Given the description of an element on the screen output the (x, y) to click on. 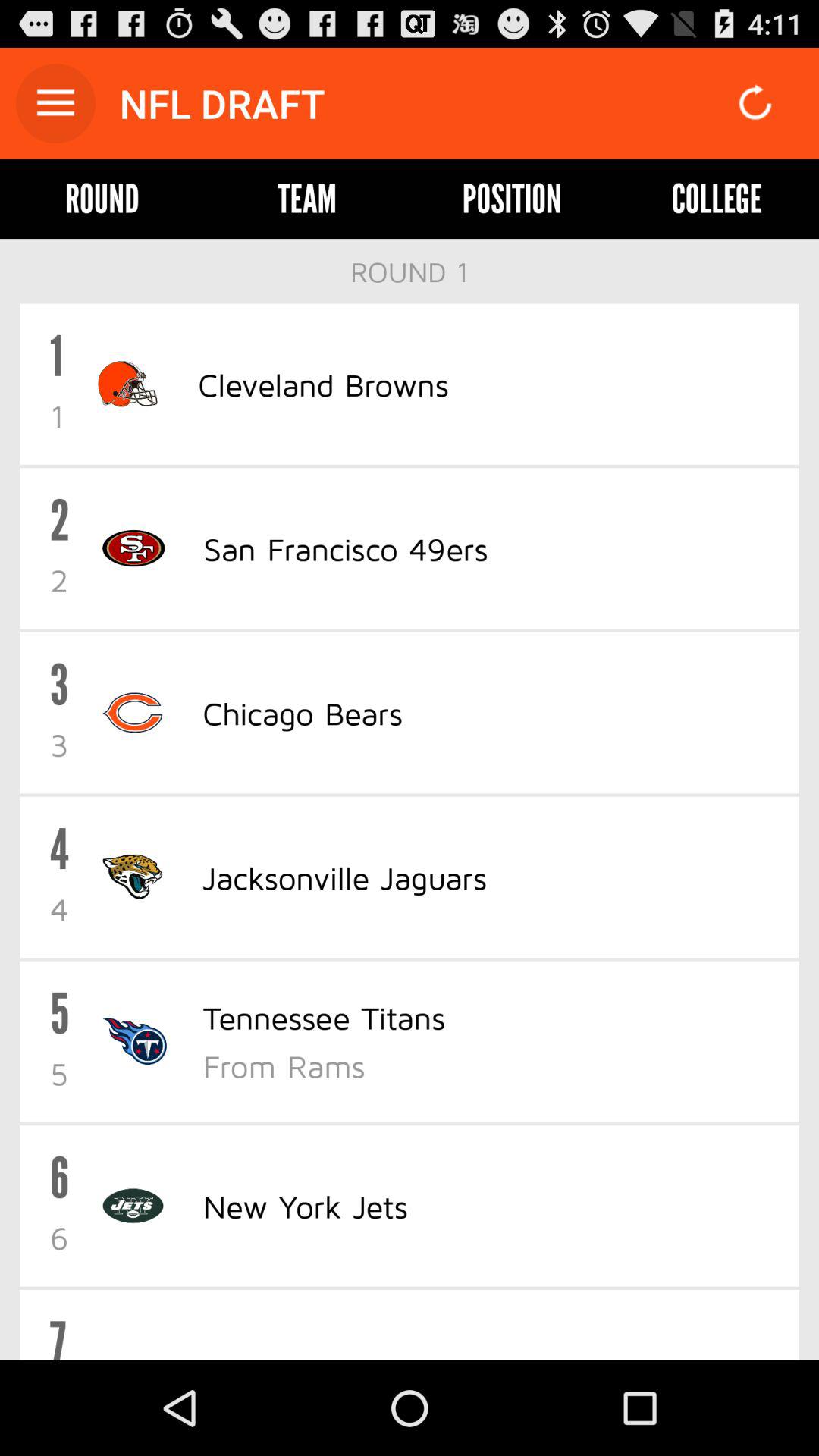
press icon next to position (306, 198)
